Given the description of an element on the screen output the (x, y) to click on. 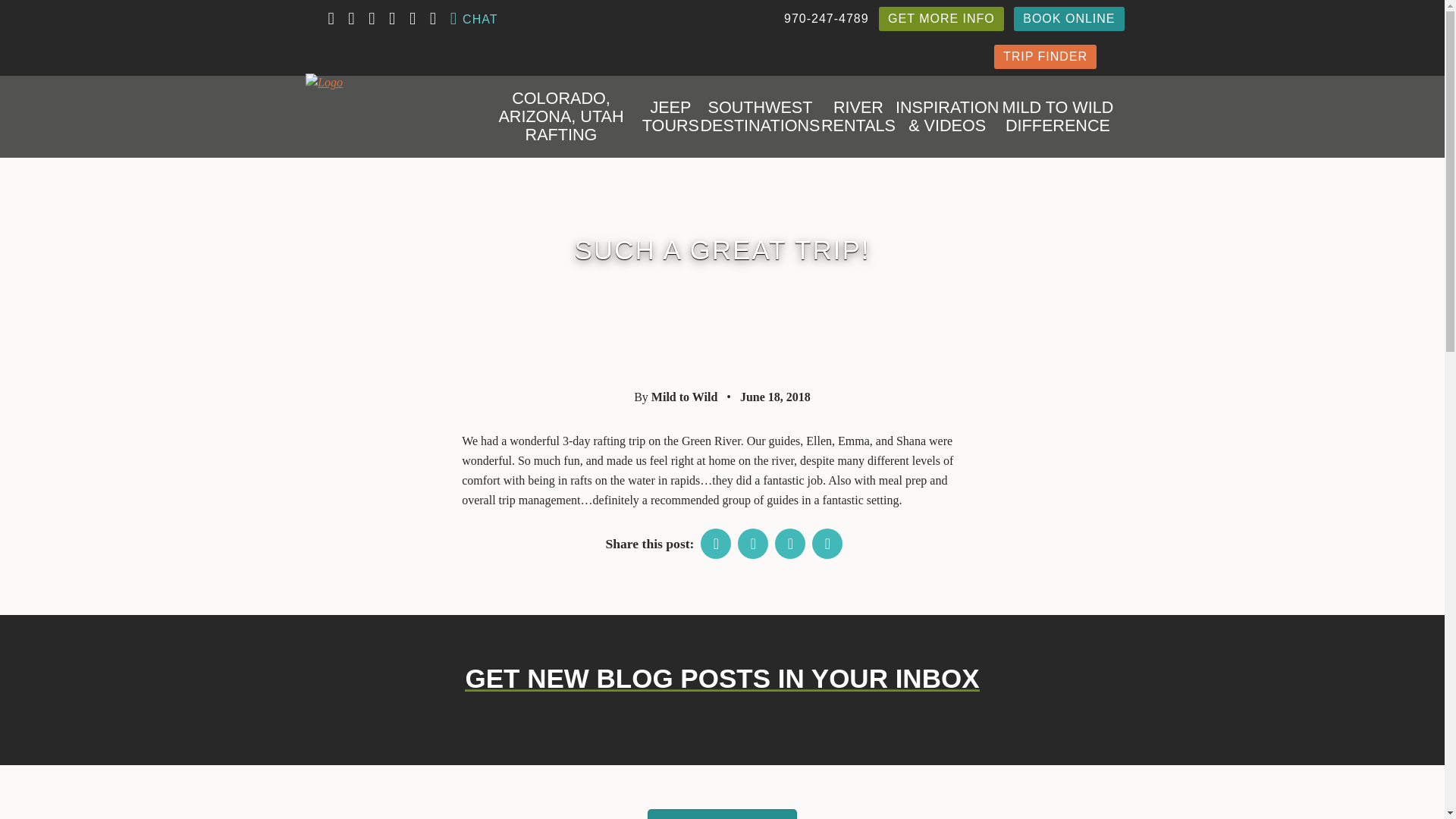
BOOK ONLINE (1068, 18)
GET MORE INFO (941, 18)
TRIP FINDER (1045, 56)
CHAT (473, 18)
Colorado, Arizona, Utah Rafting (561, 117)
COLORADO, ARIZONA, UTAH RAFTING (561, 117)
